Given the description of an element on the screen output the (x, y) to click on. 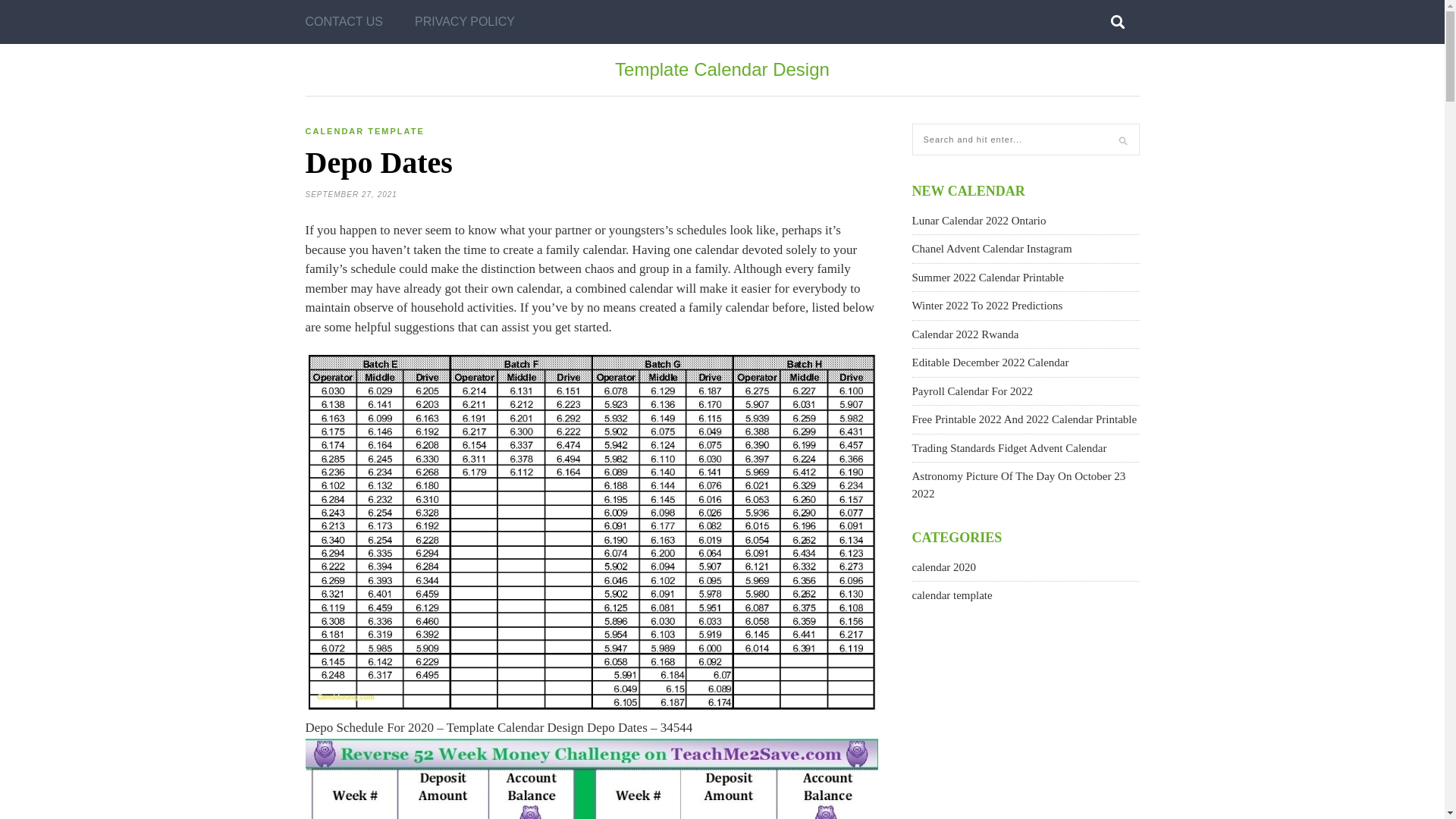
Astronomy Picture Of The Day On October 23 2022 (1018, 484)
Summer 2022 Calendar Printable (986, 277)
calendar template (951, 594)
Trading Standards Fidget Advent Calendar (1008, 447)
Winter 2022 To 2022 Predictions (986, 305)
calendar 2020 (943, 567)
Template Calendar Design (721, 68)
CALENDAR TEMPLATE (363, 130)
PRIVACY POLICY (464, 22)
Free Printable 2022 And 2022 Calendar Printable (1024, 419)
Calendar 2022 Rwanda (964, 333)
CONTACT US (343, 22)
Chanel Advent Calendar Instagram (991, 248)
